Given the description of an element on the screen output the (x, y) to click on. 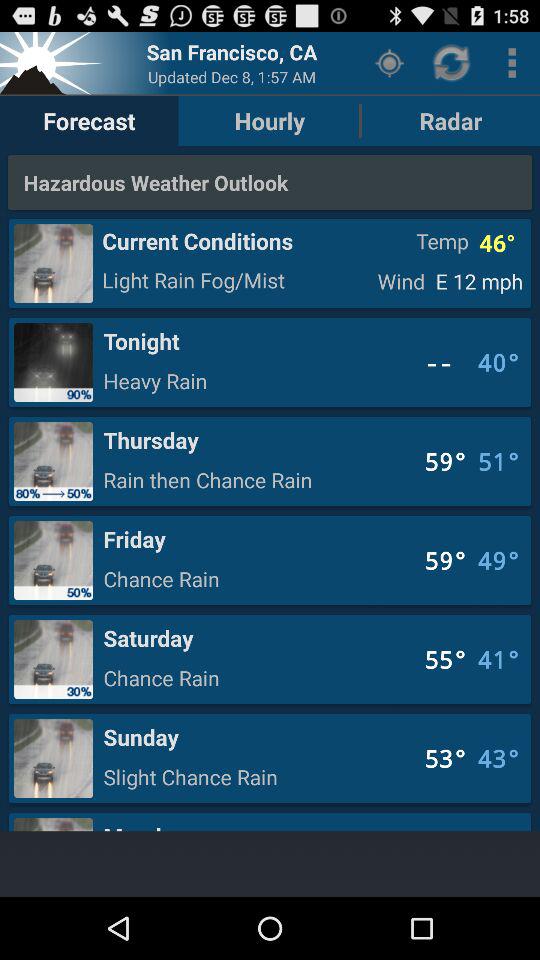
click to get weather information (53, 62)
